Given the description of an element on the screen output the (x, y) to click on. 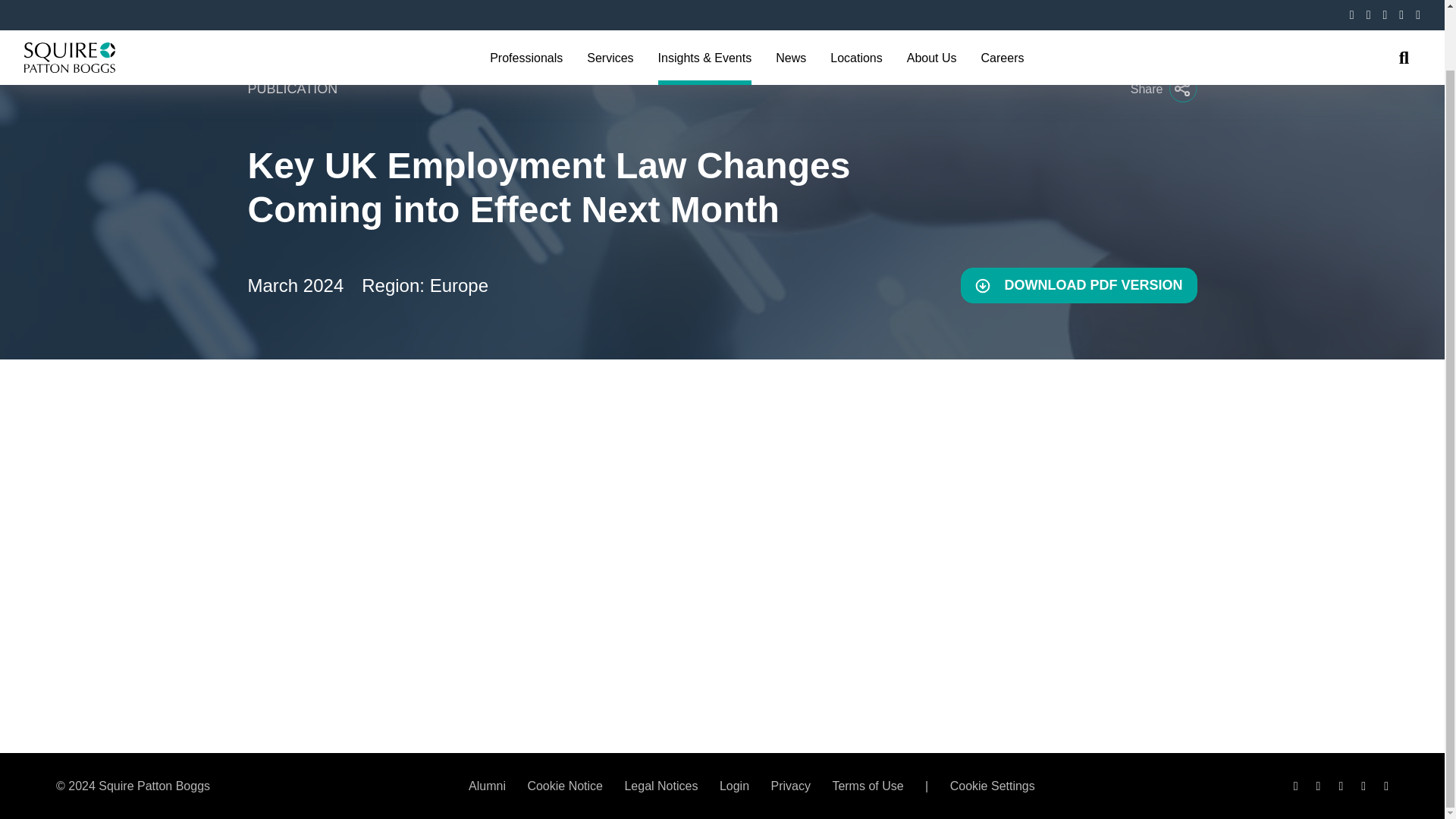
Professionals (525, 9)
Services (609, 9)
Squire Patton Boggs Home (69, 9)
